Given the description of an element on the screen output the (x, y) to click on. 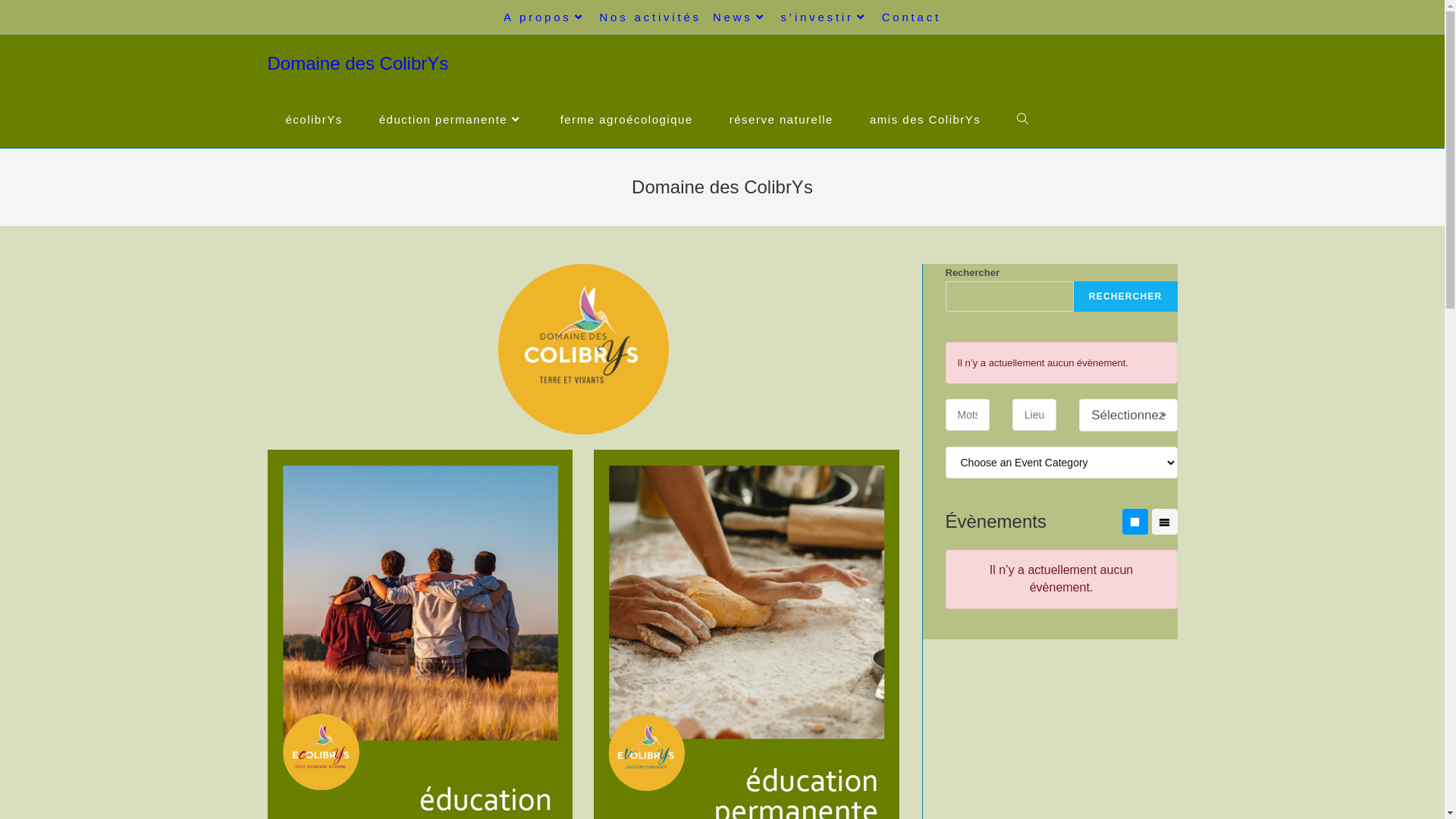
RECHERCHER Element type: text (1125, 296)
Toggle website search Element type: text (1022, 119)
amis des ColibrYs Element type: text (924, 119)
Domaine des ColibrYs Element type: text (357, 63)
News Element type: text (740, 17)
Contact Element type: text (911, 17)
A propos Element type: text (545, 17)
